Given the description of an element on the screen output the (x, y) to click on. 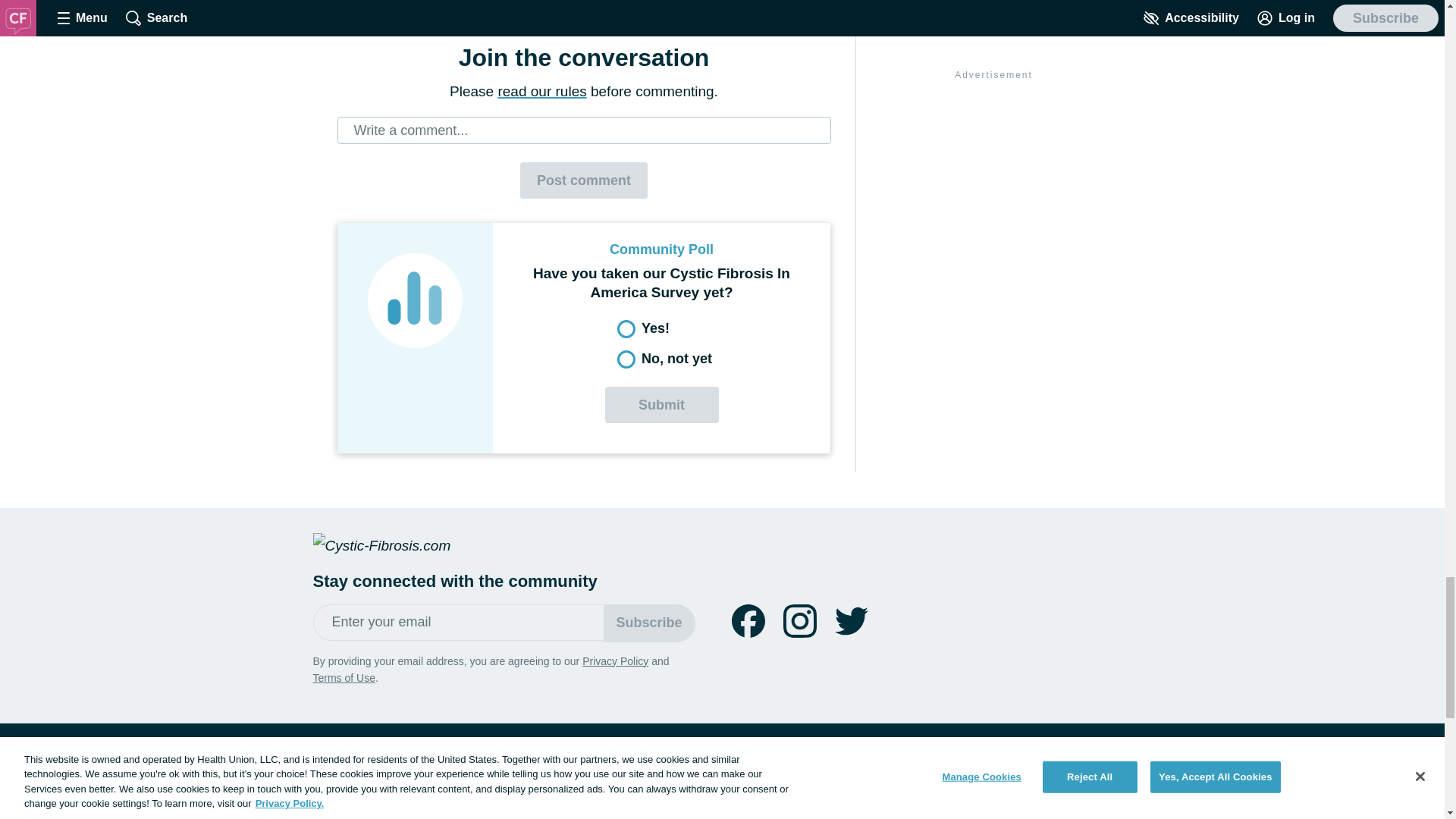
Follow us on facebook (747, 621)
53029 (625, 359)
53028 (625, 329)
